Given the description of an element on the screen output the (x, y) to click on. 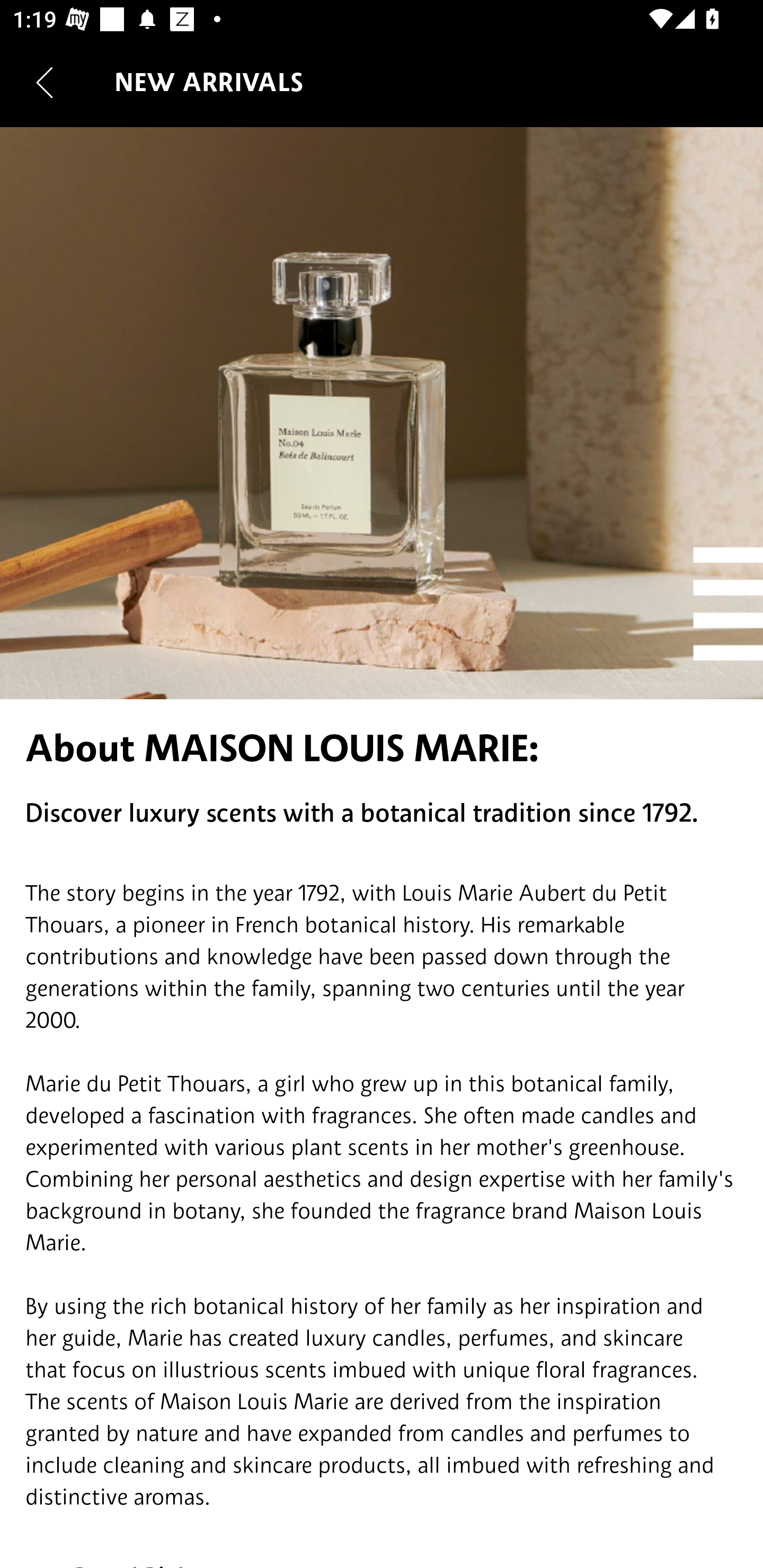
Navigate up (44, 82)
About MAISON LOUIS MARIE: (381, 747)
